Given the description of an element on the screen output the (x, y) to click on. 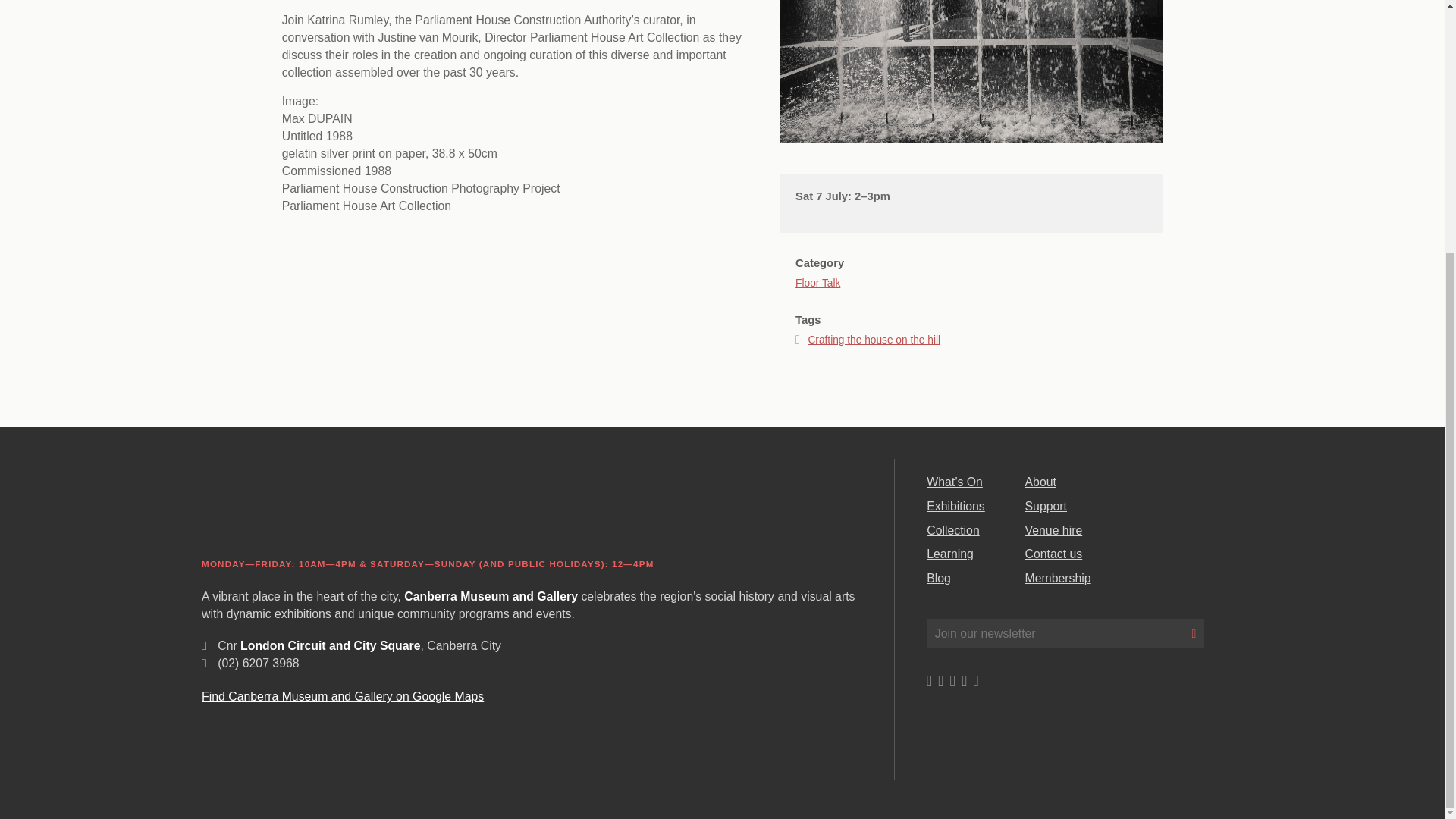
Collection (952, 530)
Contact us (1054, 553)
Support (1046, 505)
Exhibitions (955, 505)
Find Canberra Museum and Gallery on Google Maps (342, 696)
About (1041, 481)
Learning (950, 553)
Canberra Museum and Gallery (317, 504)
Floor Talk (817, 271)
Membership (1057, 577)
Blog (938, 577)
Crafting the house on the hill (874, 339)
Venue hire (1054, 530)
